Given the description of an element on the screen output the (x, y) to click on. 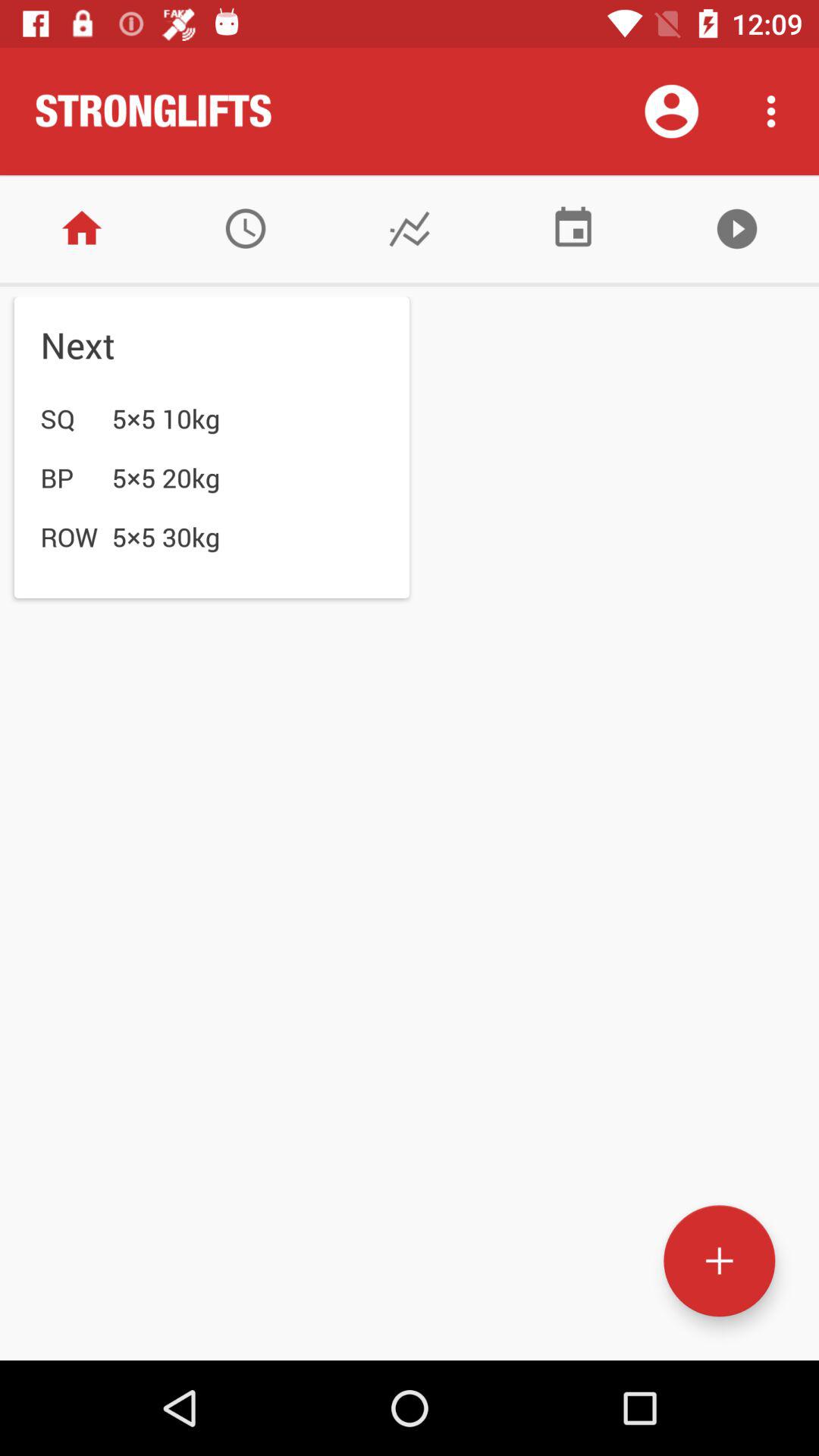
start now (737, 228)
